Given the description of an element on the screen output the (x, y) to click on. 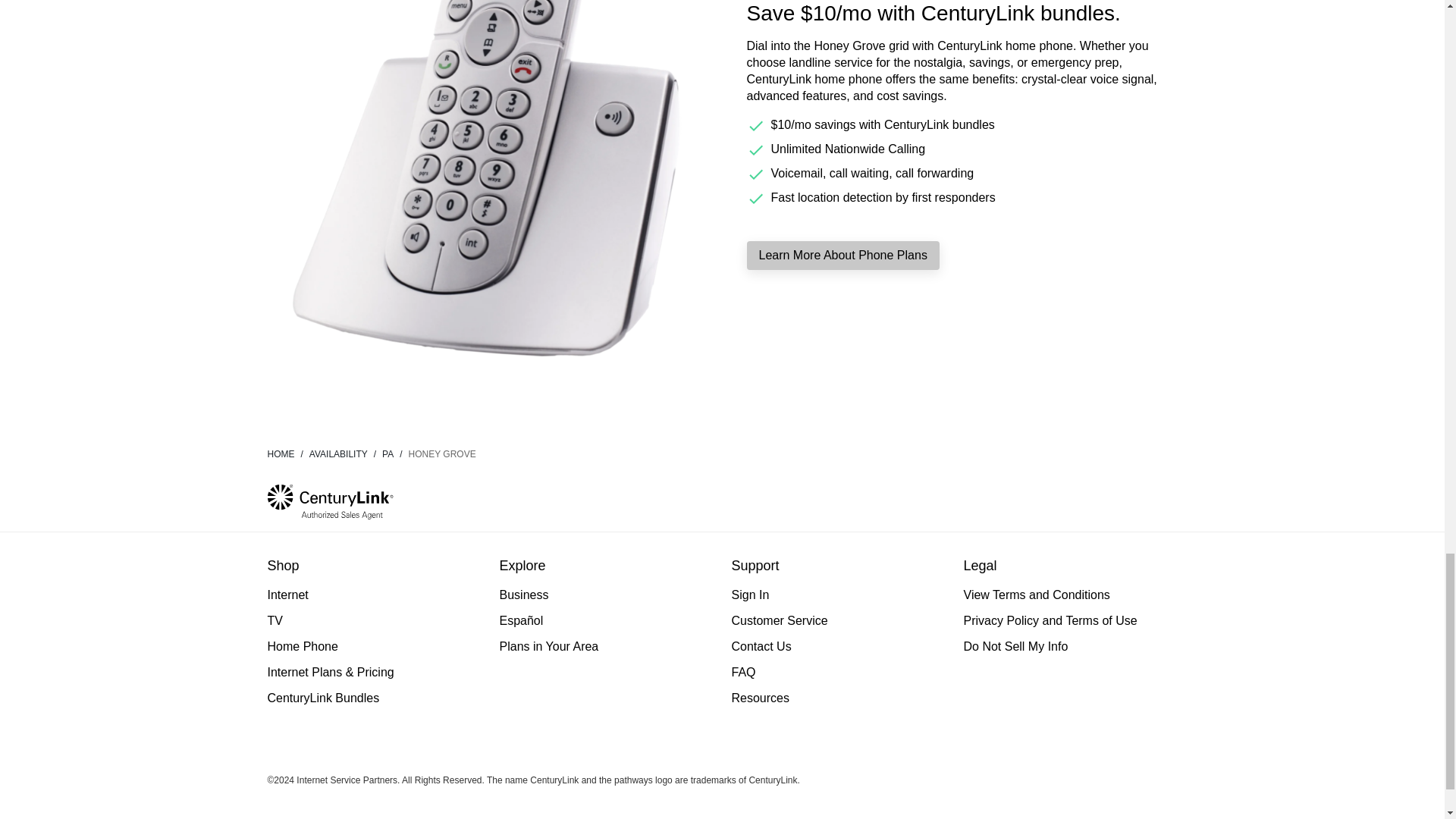
HOME (287, 453)
Learn More About Phone Plans (842, 255)
